Given the description of an element on the screen output the (x, y) to click on. 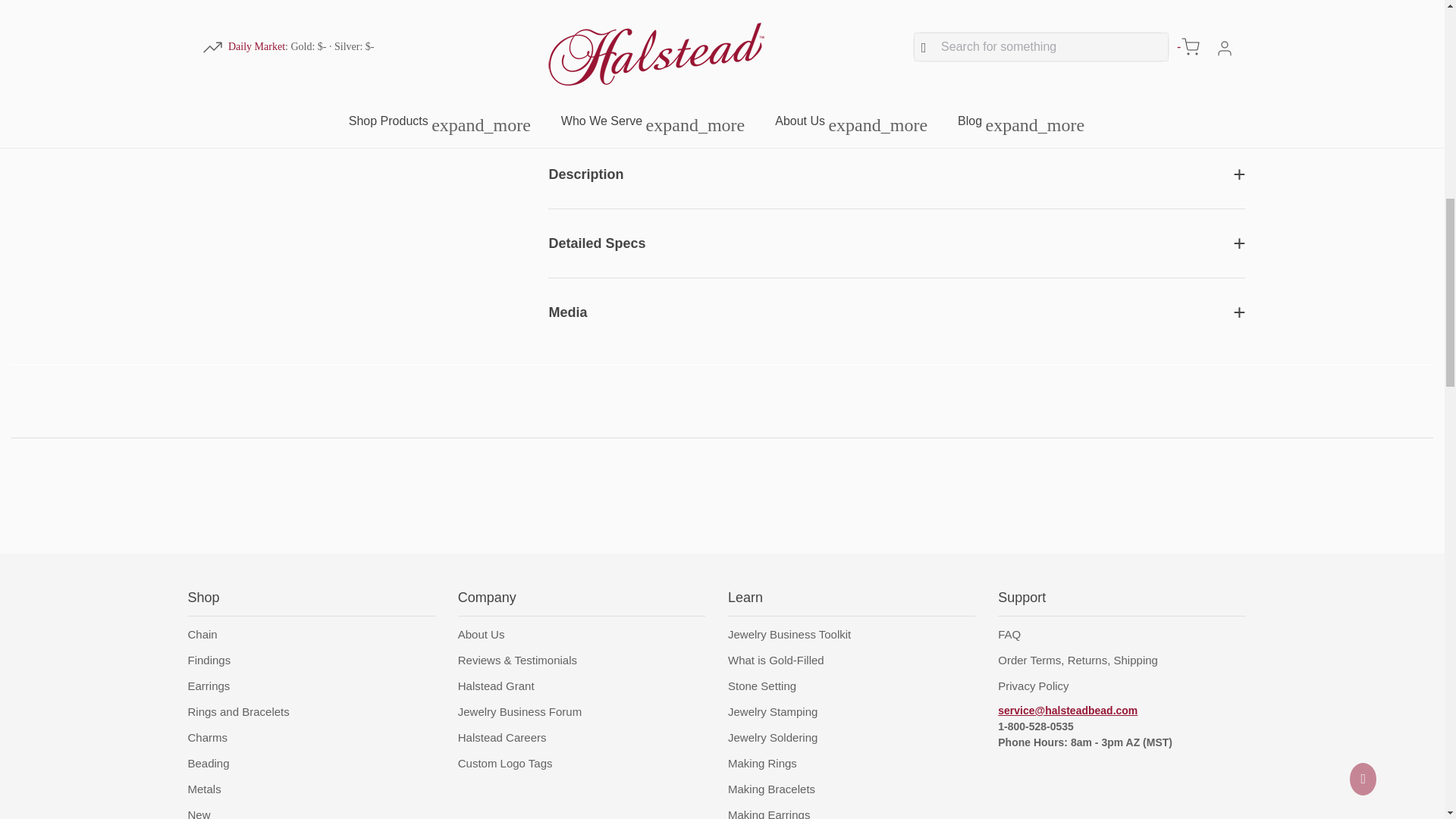
Open Halstead Grant website in new tab or window (496, 685)
